Given the description of an element on the screen output the (x, y) to click on. 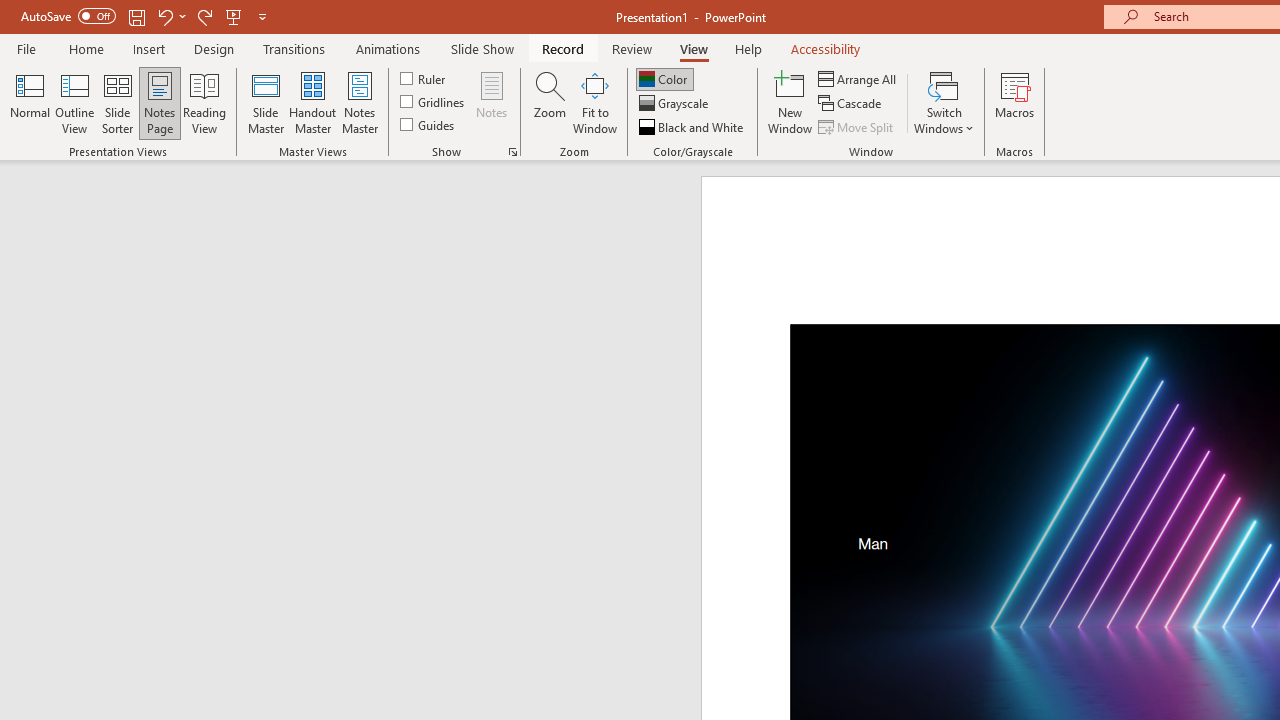
Ruler (423, 78)
Notes (492, 102)
Zoom... (549, 102)
Notes Page (159, 102)
